Given the description of an element on the screen output the (x, y) to click on. 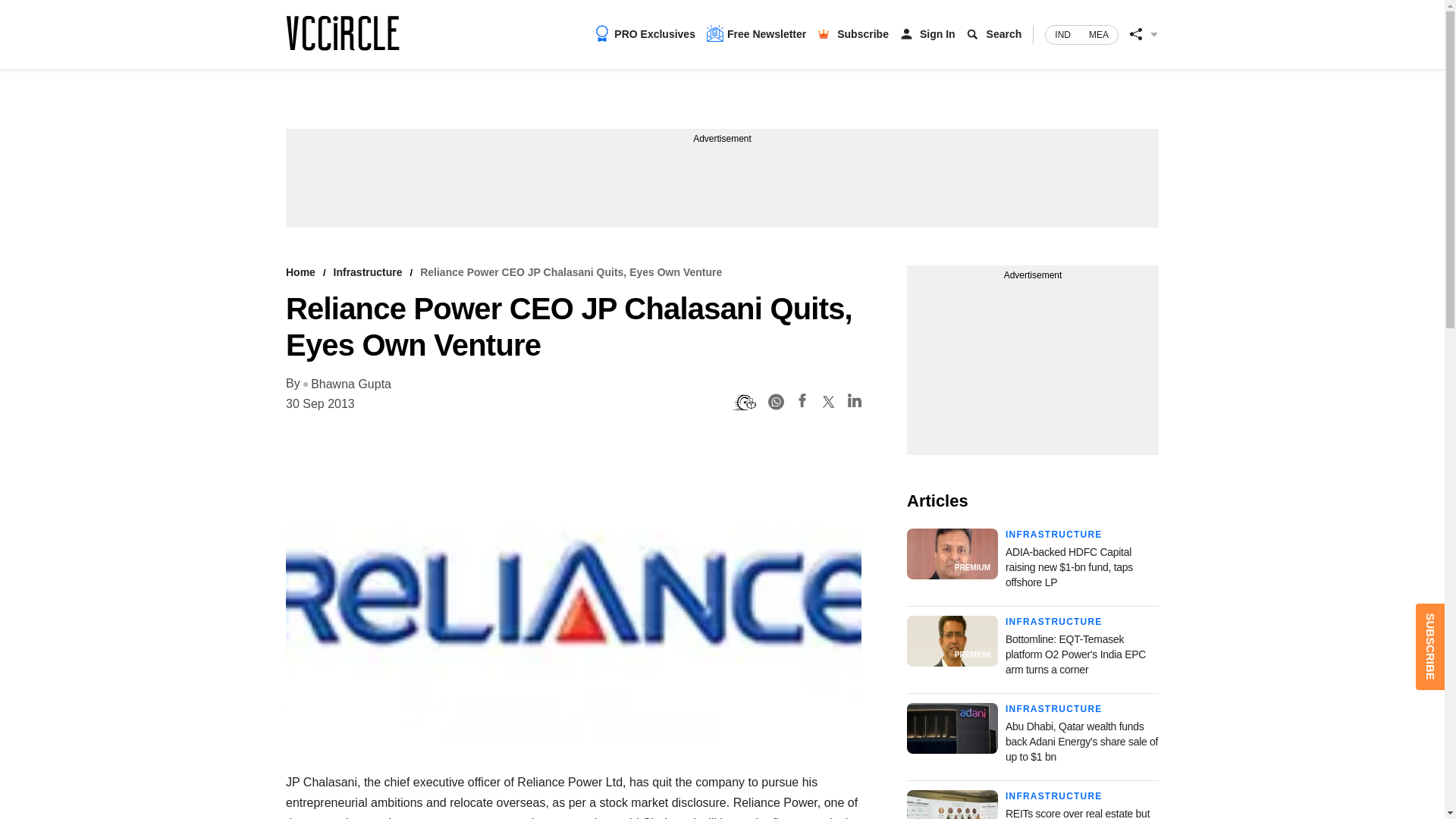
Infrastructure (368, 272)
Home (300, 272)
Stay Home. Read Quality News (341, 32)
INFRASTRUCTURE (1054, 534)
Sign In (937, 33)
IND (1062, 34)
PRO Exclusives (644, 33)
INFRASTRUCTURE (1054, 796)
INFRASTRUCTURE (1054, 621)
Search (1004, 33)
INFRASTRUCTURE (1054, 708)
Free Newsletter (756, 33)
Subscribe (862, 33)
Bhawna Gupta (346, 384)
